Given the description of an element on the screen output the (x, y) to click on. 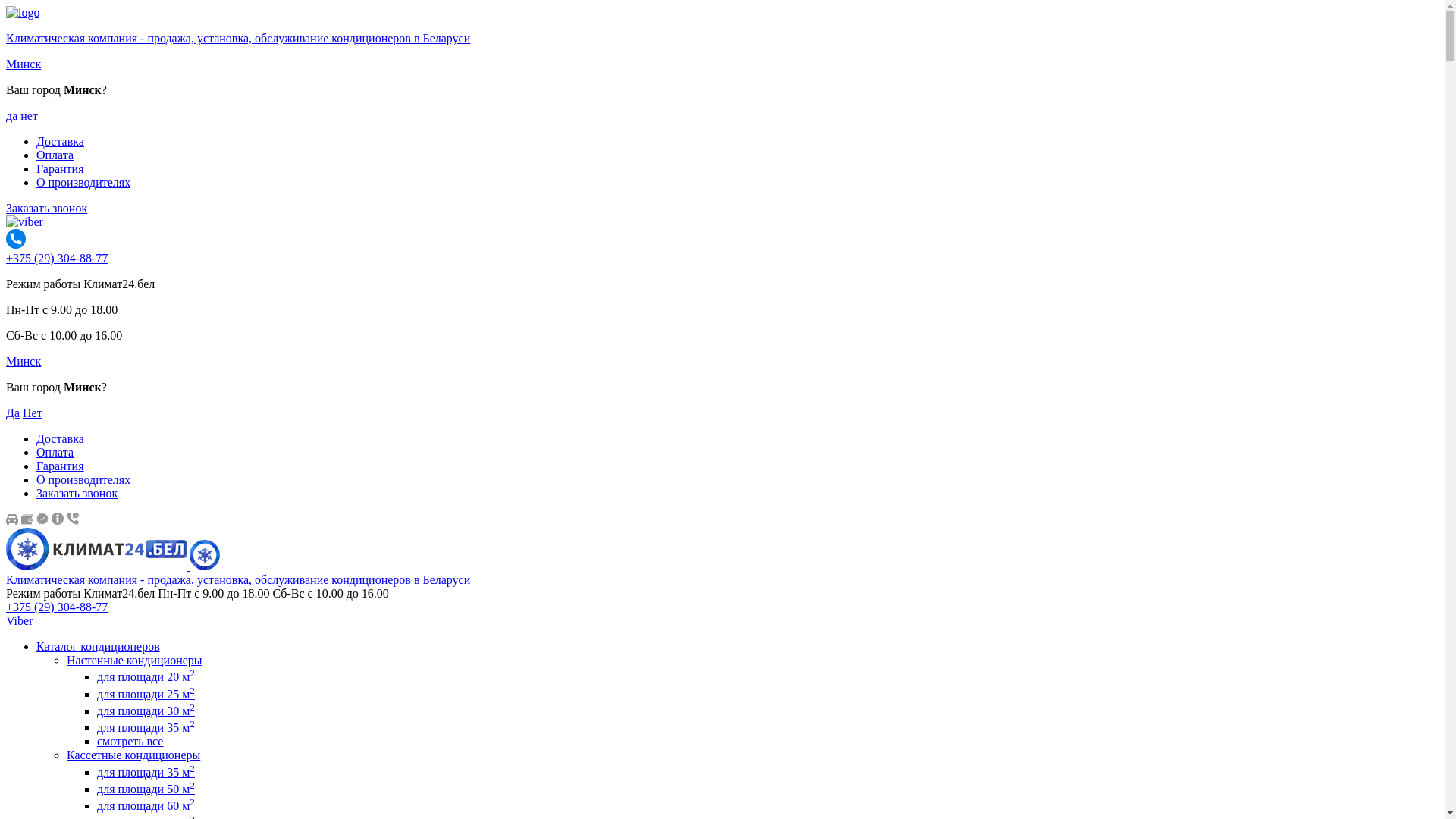
+375 (29) 304-88-77 Element type: text (56, 606)
+375 (29) 304-88-77 Element type: text (56, 257)
Viber Element type: text (19, 620)
